Given the description of an element on the screen output the (x, y) to click on. 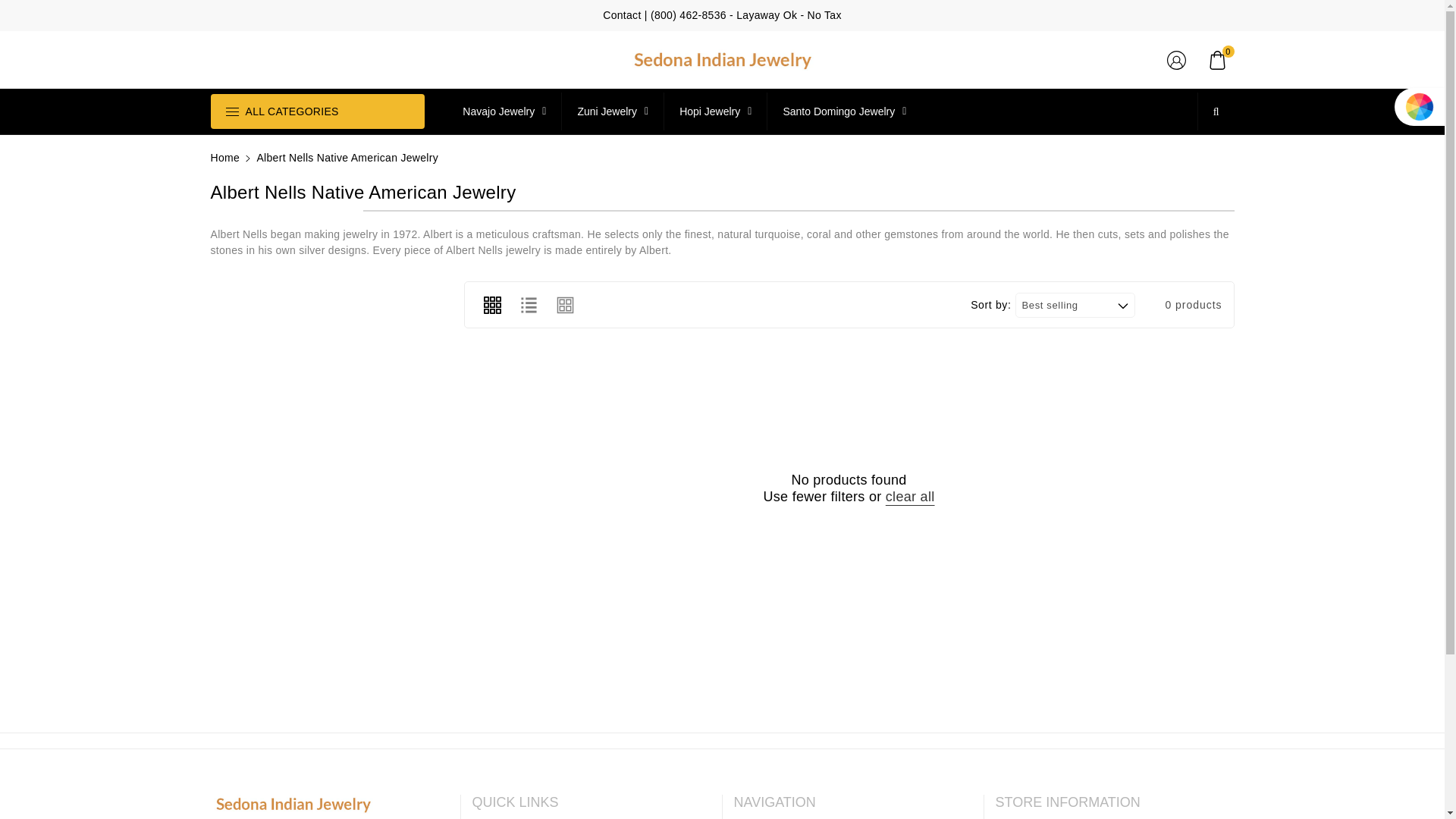
Contact (621, 15)
Skip To Content (8, 5)
